Given the description of an element on the screen output the (x, y) to click on. 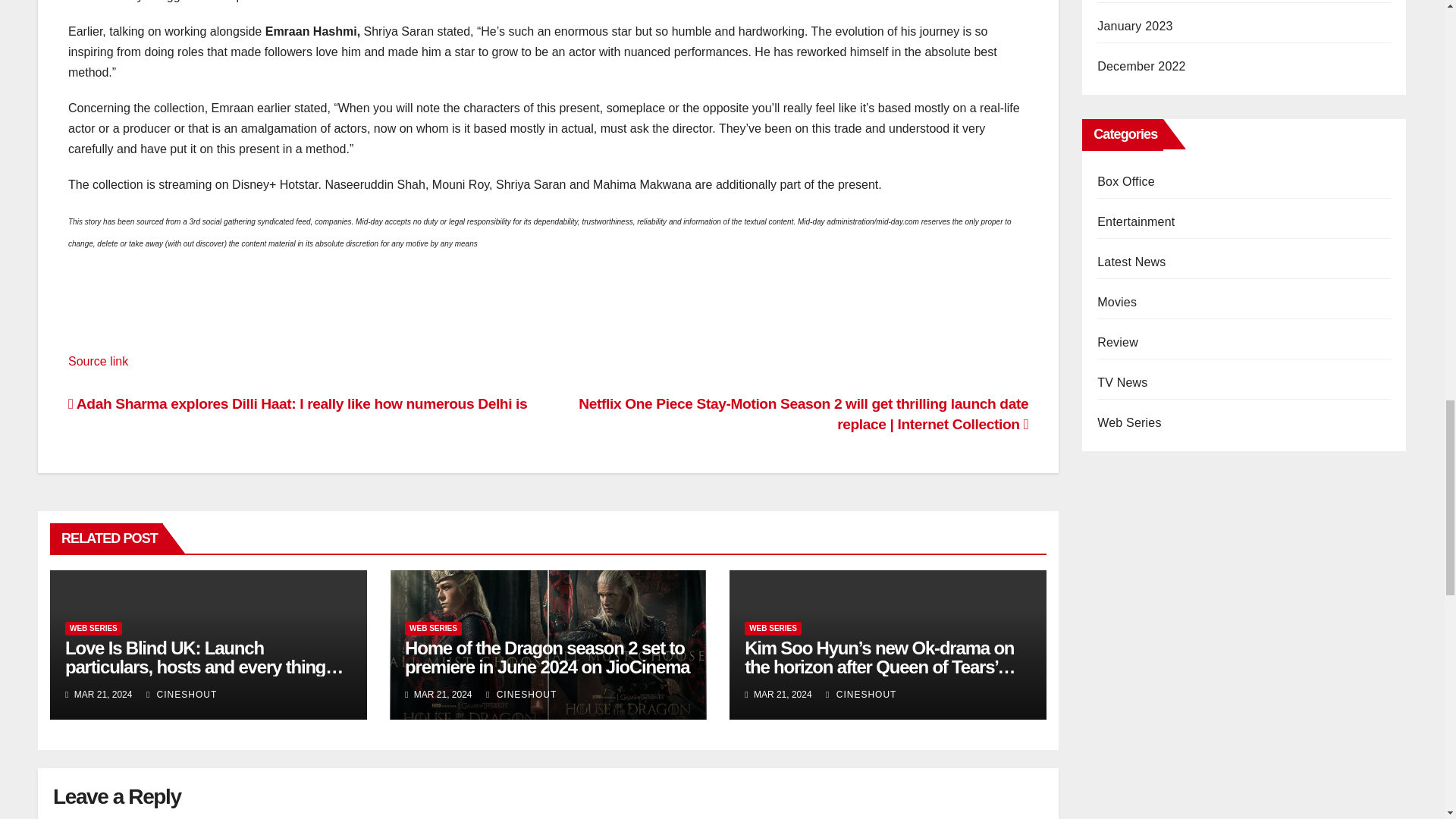
WEB SERIES (93, 628)
CINESHOUT (181, 694)
Source link (98, 360)
CINESHOUT (521, 694)
WEB SERIES (432, 628)
CINESHOUT (860, 694)
WEB SERIES (773, 628)
